Given the description of an element on the screen output the (x, y) to click on. 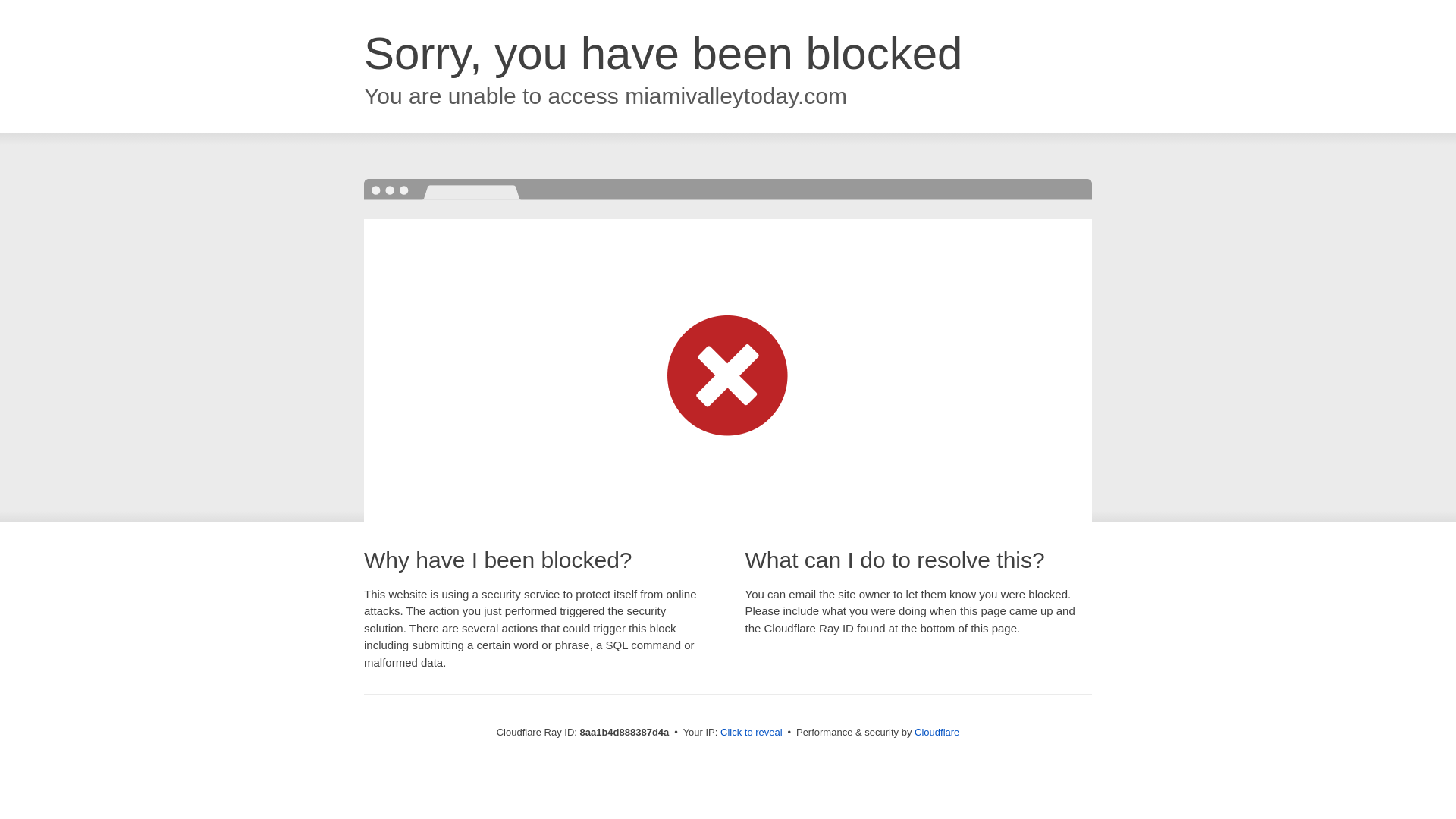
Click to reveal (751, 732)
Cloudflare (936, 731)
